Given the description of an element on the screen output the (x, y) to click on. 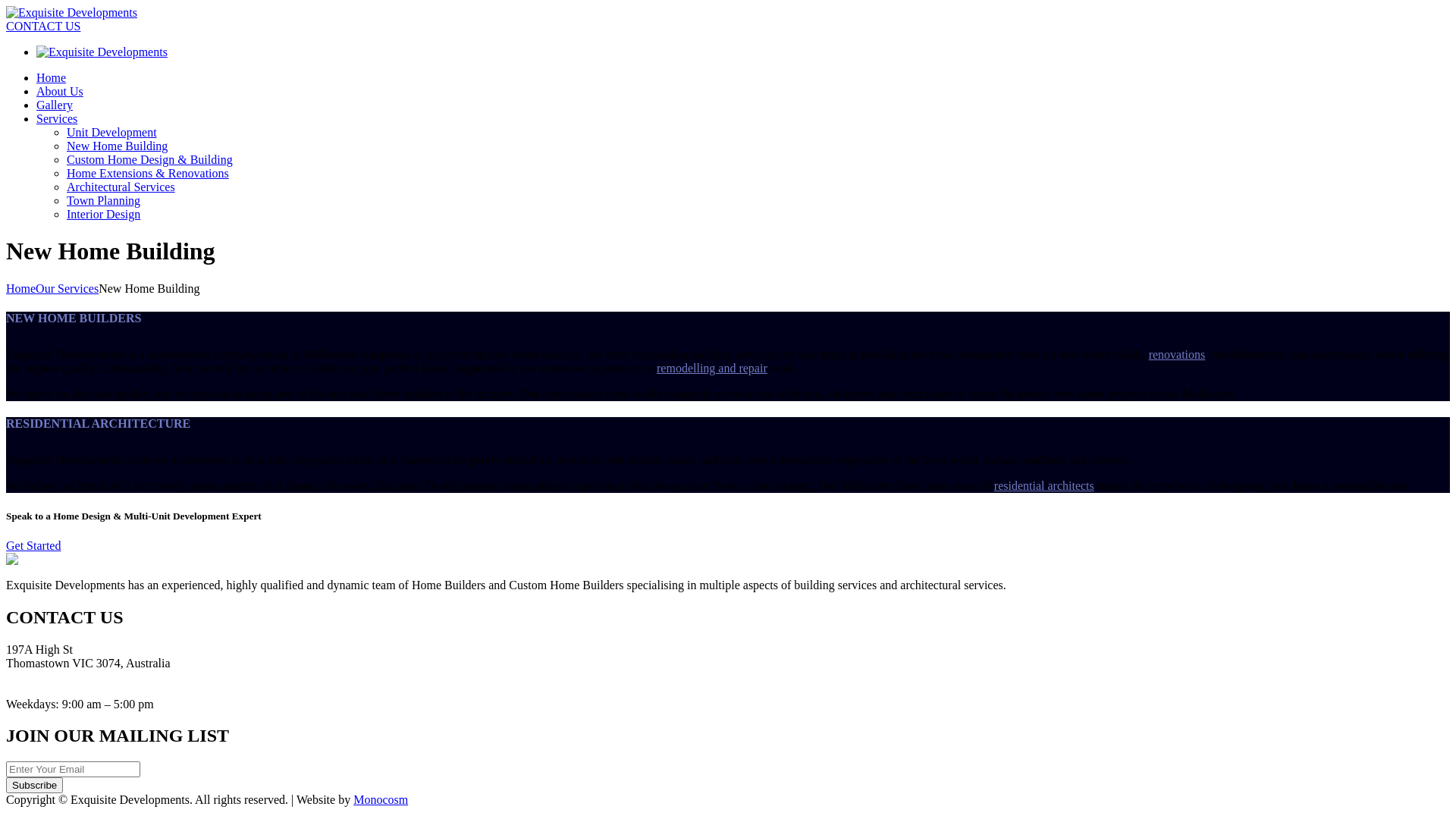
Home Element type: text (20, 288)
About Us Element type: text (59, 90)
renovations Element type: text (1176, 354)
New Home Building Element type: text (116, 145)
Monocosm Element type: text (380, 799)
Exquisite Developments Element type: hover (71, 12)
Town Planning Element type: text (103, 200)
Home Extensions & Renovations Element type: text (147, 172)
Interior Design Element type: text (103, 213)
Unit Development Element type: text (111, 131)
Architectural Services Element type: text (120, 186)
CONTACT US Element type: text (43, 25)
Subscribe Element type: text (34, 785)
Gallery Element type: text (54, 104)
Custom Home Design & Building Element type: text (149, 159)
info@exquisitedevelopments.com.au Element type: text (96, 676)
Home Element type: text (50, 77)
Services Element type: text (56, 118)
residential architects Element type: text (1044, 485)
0402 834 544 Element type: text (39, 690)
Get Started Element type: text (33, 545)
Our Services Element type: text (66, 288)
remodelling and repair Element type: text (711, 367)
